Given the description of an element on the screen output the (x, y) to click on. 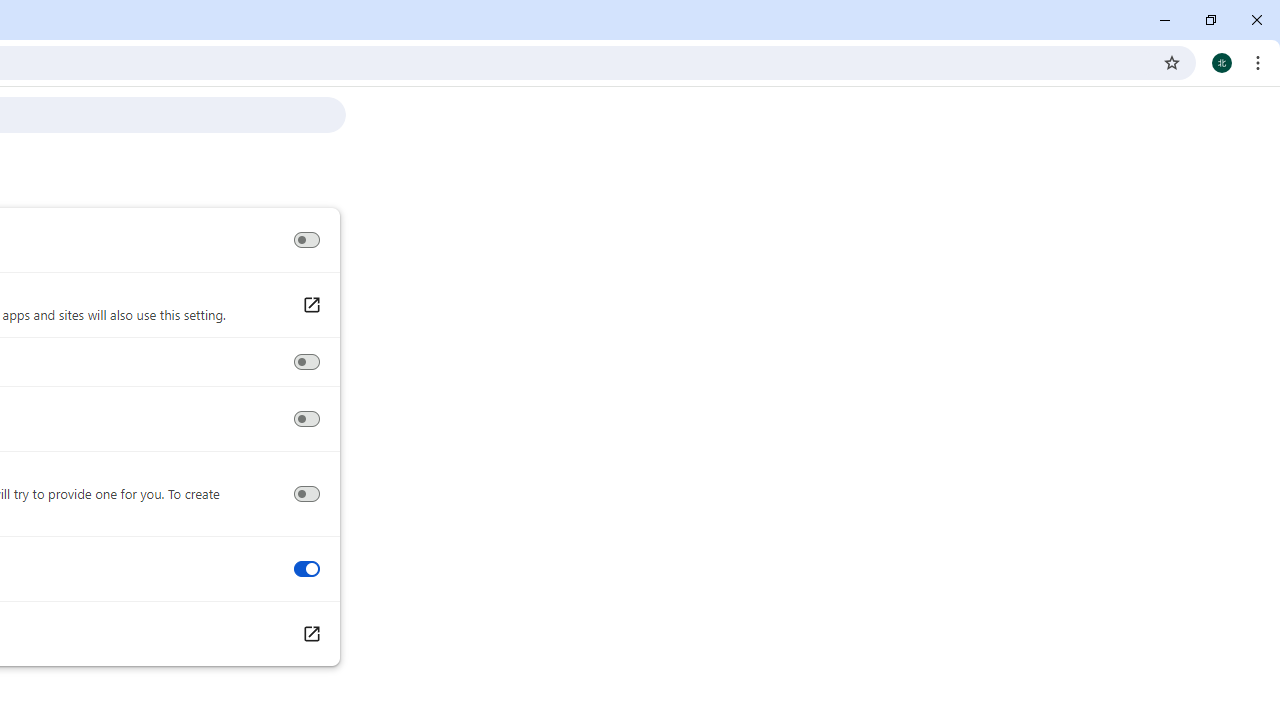
Live Caption (306, 240)
Navigate pages with a text cursor (306, 419)
Show a quick highlight on the focused object (306, 362)
Get image descriptions from Google (306, 494)
Swipe between pages (306, 569)
Add accessibility features Open Chrome Web Store (310, 633)
